Given the description of an element on the screen output the (x, y) to click on. 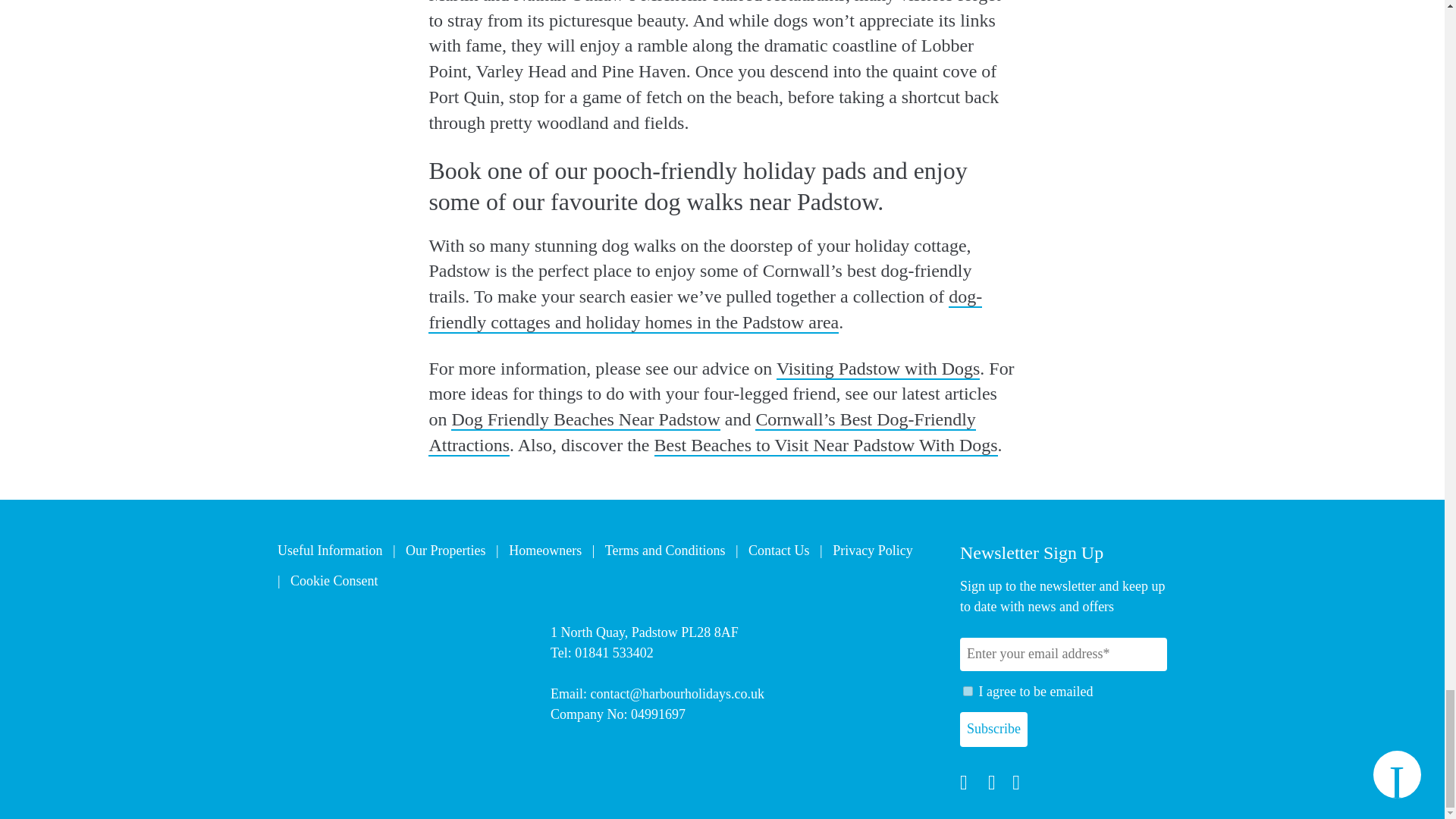
on (967, 691)
